Given the description of an element on the screen output the (x, y) to click on. 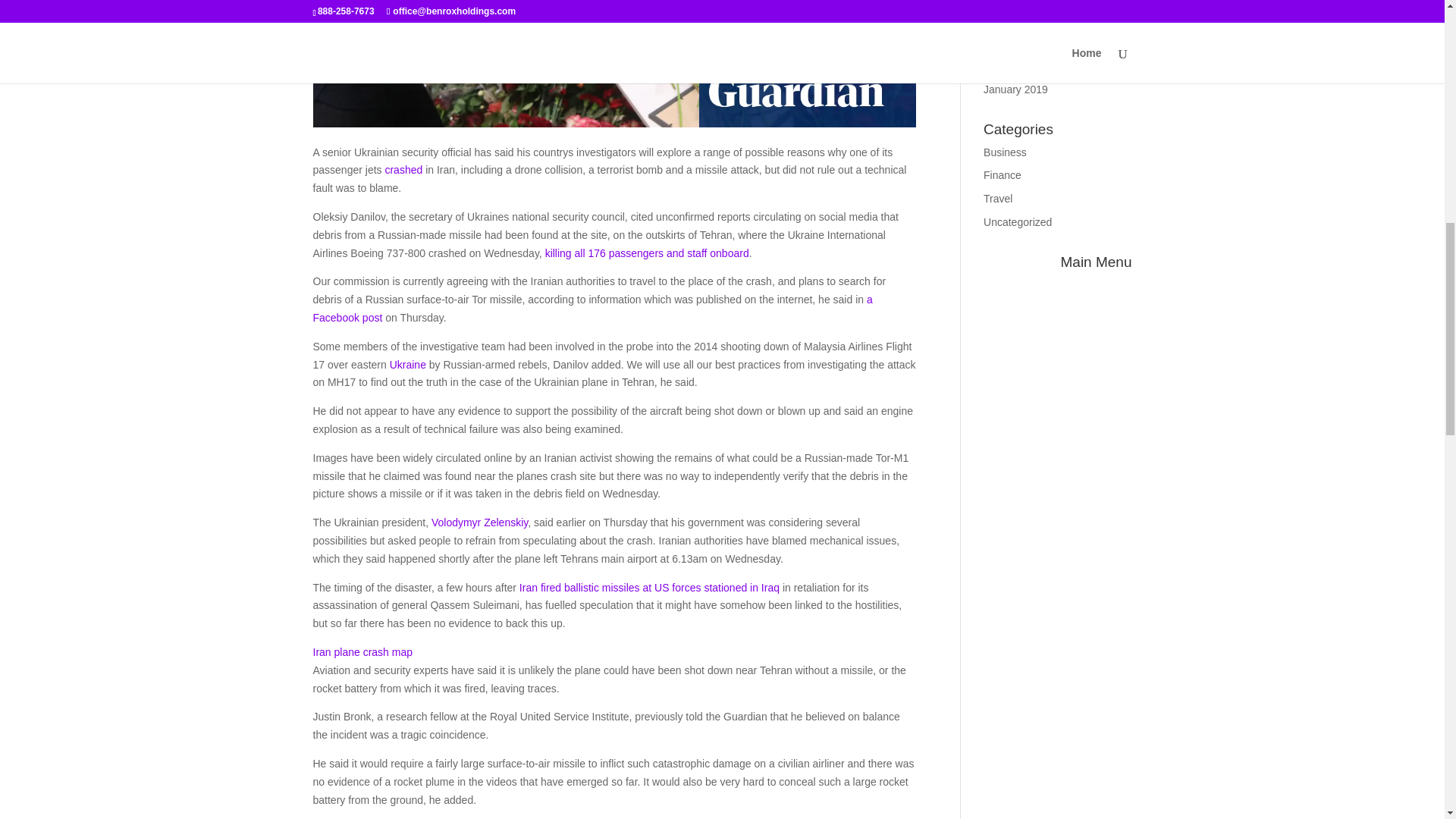
Iran plane crash map (362, 652)
crashed (404, 169)
a Facebook post (592, 308)
Ukraine (408, 364)
passengers and staff onboard (678, 253)
Volodymyr Zelenskiy (478, 522)
fired ballistic missiles at US forces stationed in Iraq (661, 587)
killing all 176 (576, 253)
Iran (529, 587)
